Given the description of an element on the screen output the (x, y) to click on. 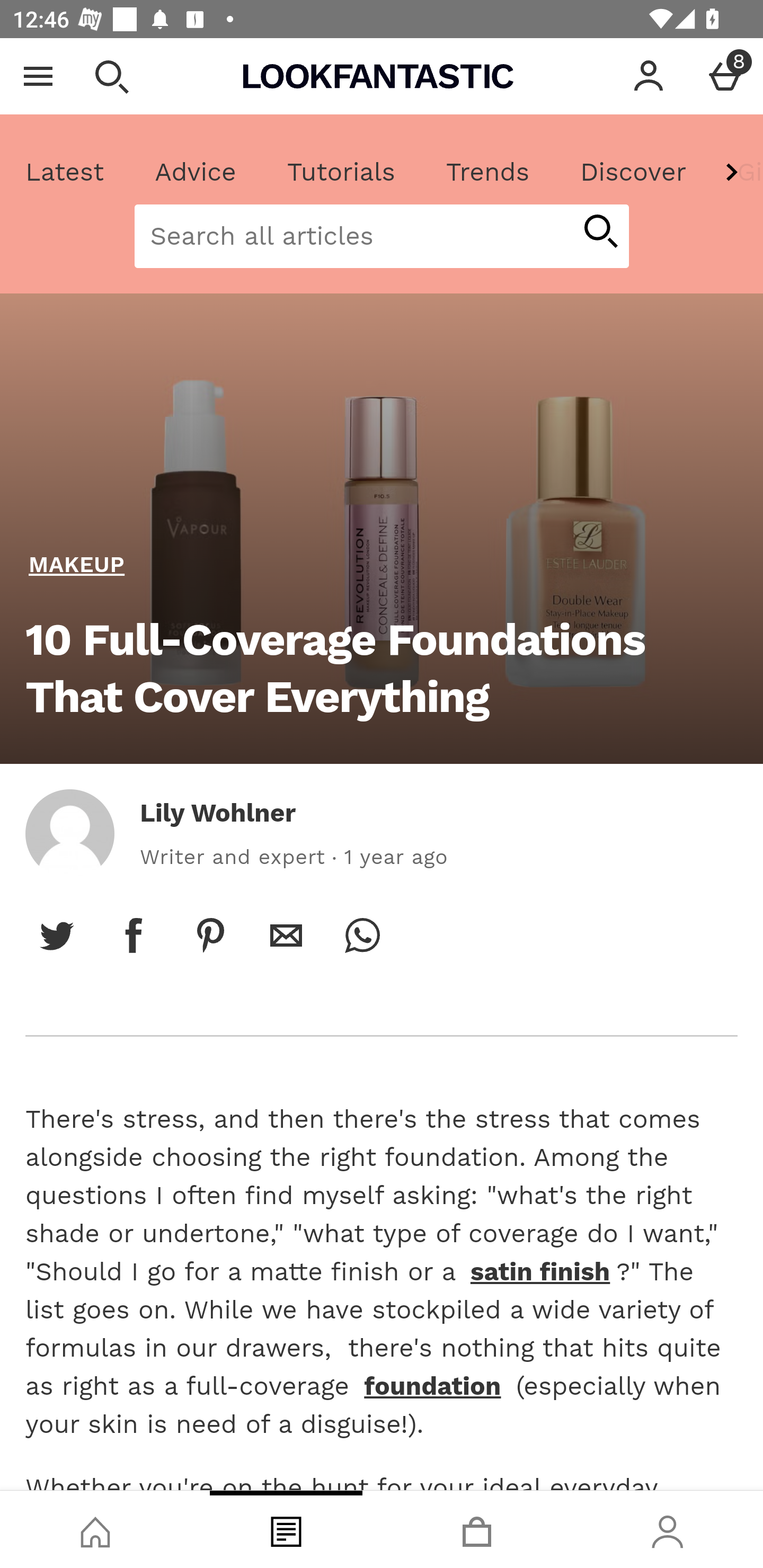
Open Menu (38, 75)
Open search (111, 75)
Account (648, 75)
Basket Menu (724, 75)
Latest (65, 172)
Advice (195, 172)
Tutorials (340, 172)
Trends (486, 172)
Discover (632, 172)
Gift Guide (736, 172)
start article search (599, 232)
MAKEUP (76, 565)
View Lily Wohlner's profile (69, 833)
Lily Wohlner (218, 812)
Share this on Twitter (57, 935)
Share this on Facebook (133, 935)
Share this on Pinterest (209, 935)
Share this by Email (286, 935)
Share this on WhatsApp (362, 935)
satin finish (539, 1271)
foundation (432, 1386)
Shop, tab, 1 of 4 (95, 1529)
Blog, tab, 2 of 4 (285, 1529)
Basket, tab, 3 of 4 (476, 1529)
Account, tab, 4 of 4 (667, 1529)
